Given the description of an element on the screen output the (x, y) to click on. 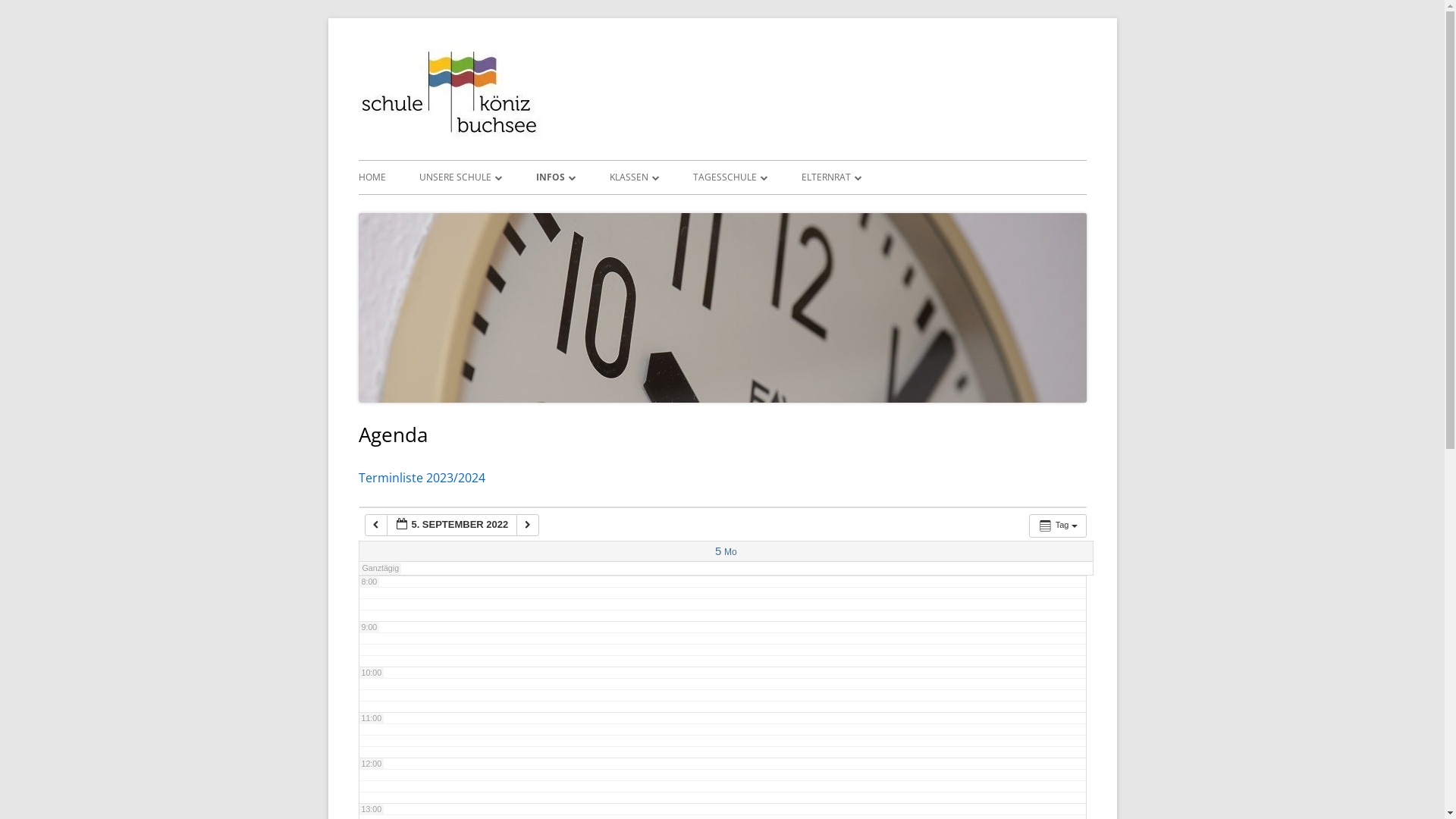
UNSERE SCHULE Element type: text (460, 177)
5. SEPTEMBER 2022 Element type: text (451, 525)
ELTERNRAT Element type: text (830, 177)
BASISSTUFEN Element type: text (696, 209)
SO FINDEN SIE UNS Element type: text (505, 209)
DOWNLOADS Element type: text (779, 209)
INFORMATIONEN ELTERNRAT Element type: text (887, 209)
Tag Element type: text (1057, 525)
5 Mo Element type: text (726, 551)
Terminliste 2023/2024 Element type: text (420, 477)
AGENDA Element type: text (622, 209)
HOME Element type: text (371, 177)
TAGESSCHULE Element type: text (730, 177)
KLASSEN Element type: text (634, 177)
INFOS Element type: text (555, 177)
